Given the description of an element on the screen output the (x, y) to click on. 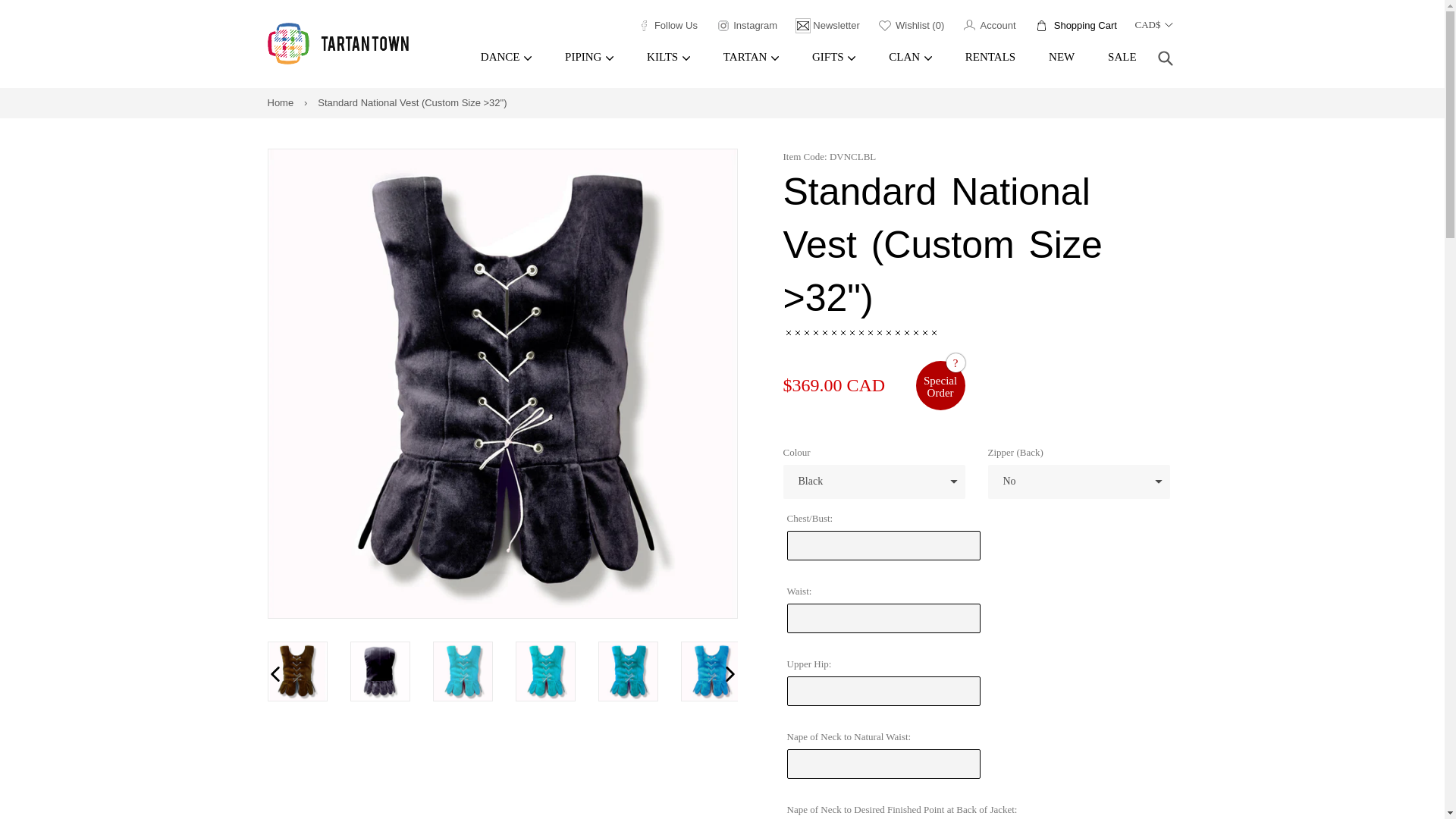
Tartantown Ltd. on Instagram (748, 24)
Tartantown Ltd. on Facebook (1076, 24)
Follow Us (668, 24)
Newsletter (668, 24)
Instagram (828, 24)
Home (748, 24)
Account (280, 102)
